Given the description of an element on the screen output the (x, y) to click on. 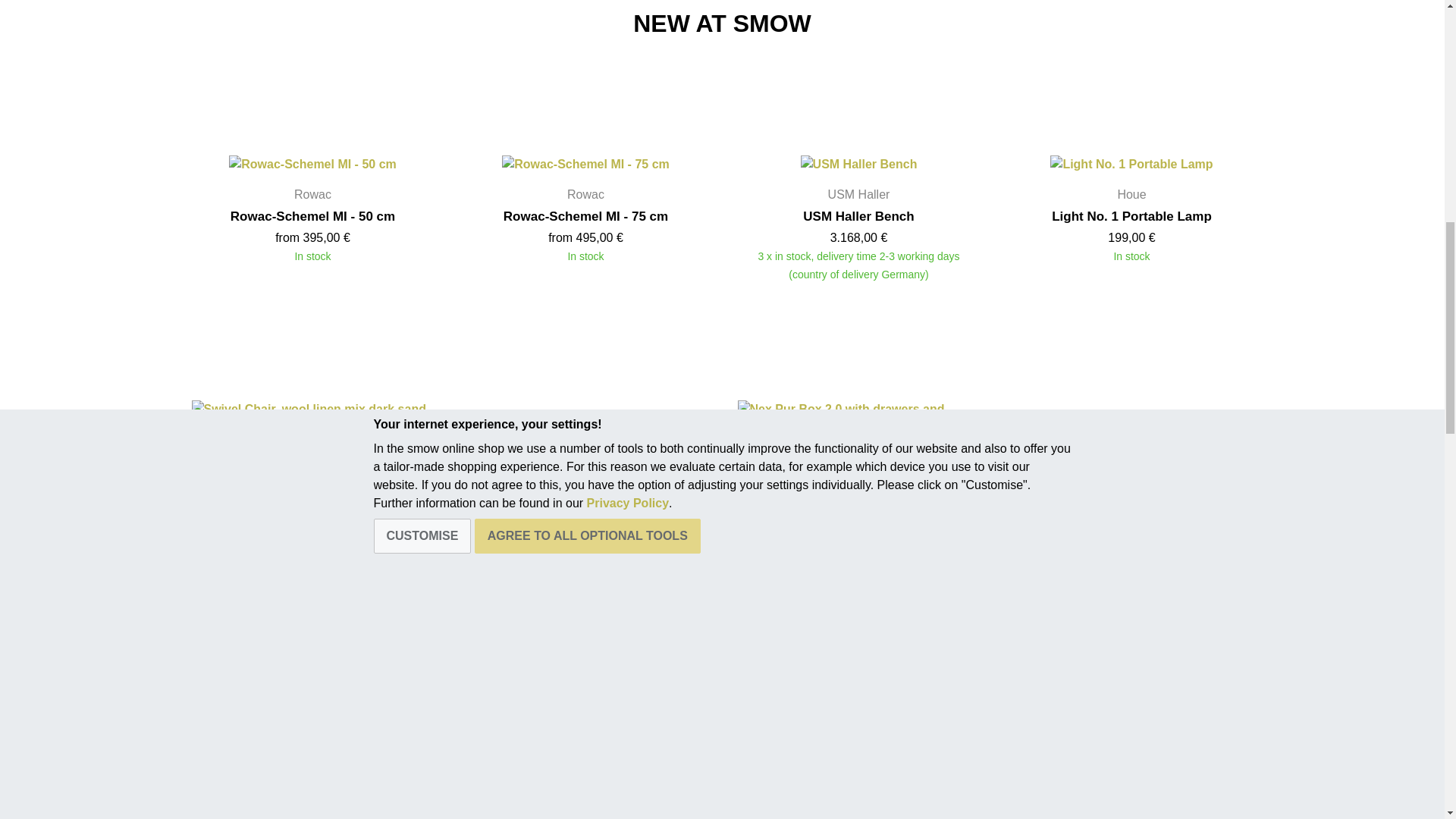
Details Piure Nex Pur Box 2.0 with Drawers (1132, 427)
Details Piure Nex Pur Box 2.0 with drawers and doors (857, 418)
Details Peruse Prelude Bench (858, 710)
Details Rowac Rowac-Schemel MI - 50 cm (312, 164)
Details Piure Nex Pur Box 2.0 with drop-down door (585, 427)
Details Vipp Swivel Chair (311, 418)
Details USM Haller USM Haller Bench (858, 164)
Details Houe Light No. 1 Portable Lamp (1130, 164)
Details Piure Nex Pur Box 2.0 with Doors (312, 710)
Details Thonet S 64 V Dark Melange Cantilever Chair (1131, 710)
